Given the description of an element on the screen output the (x, y) to click on. 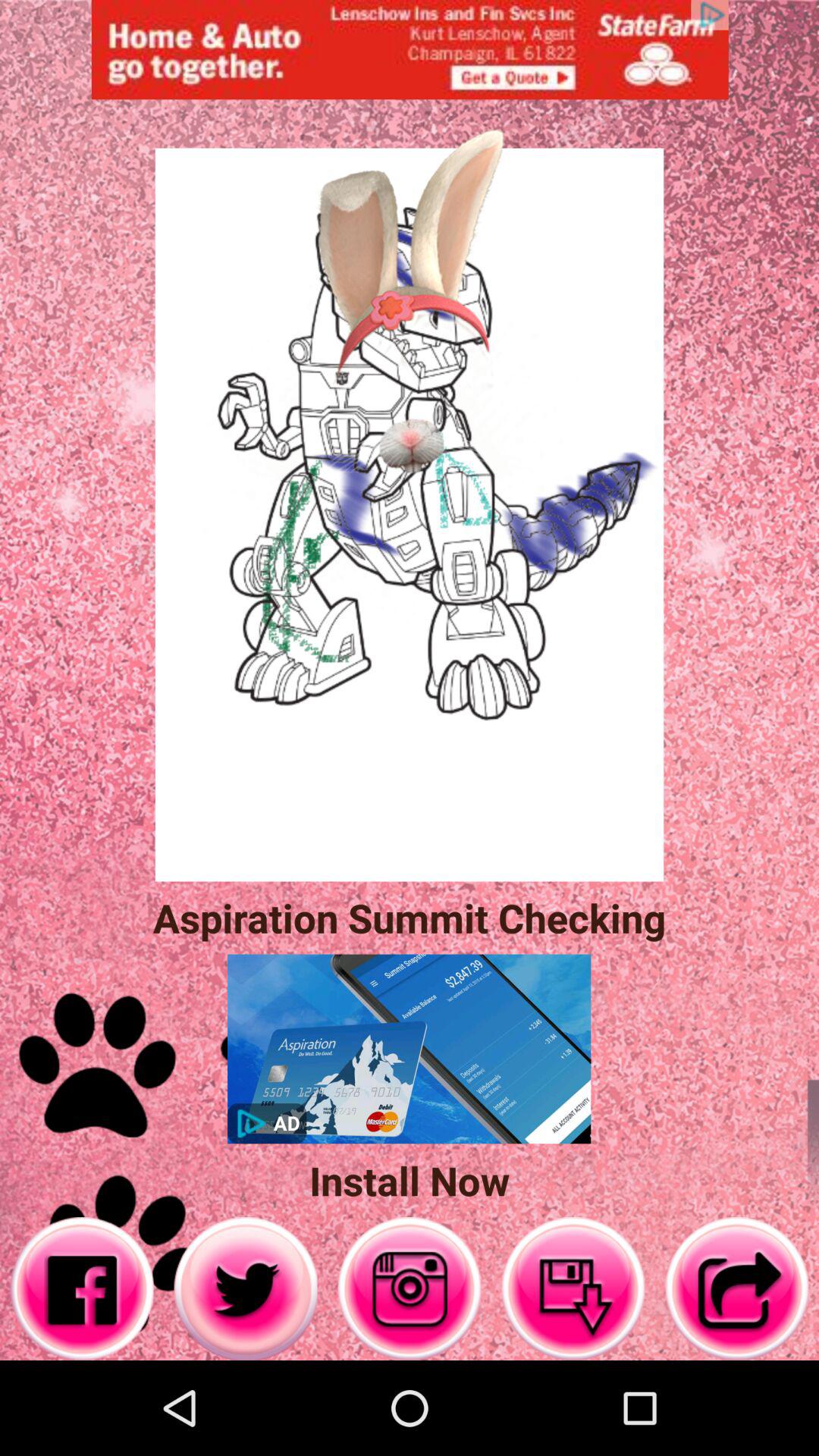
click on the button which is next to the facebook button (245, 1288)
click on the button which is at the bottom right corner of the page (737, 1288)
click on the right button of twitter button (409, 1288)
select the image which is above the install now (408, 1048)
